Given the description of an element on the screen output the (x, y) to click on. 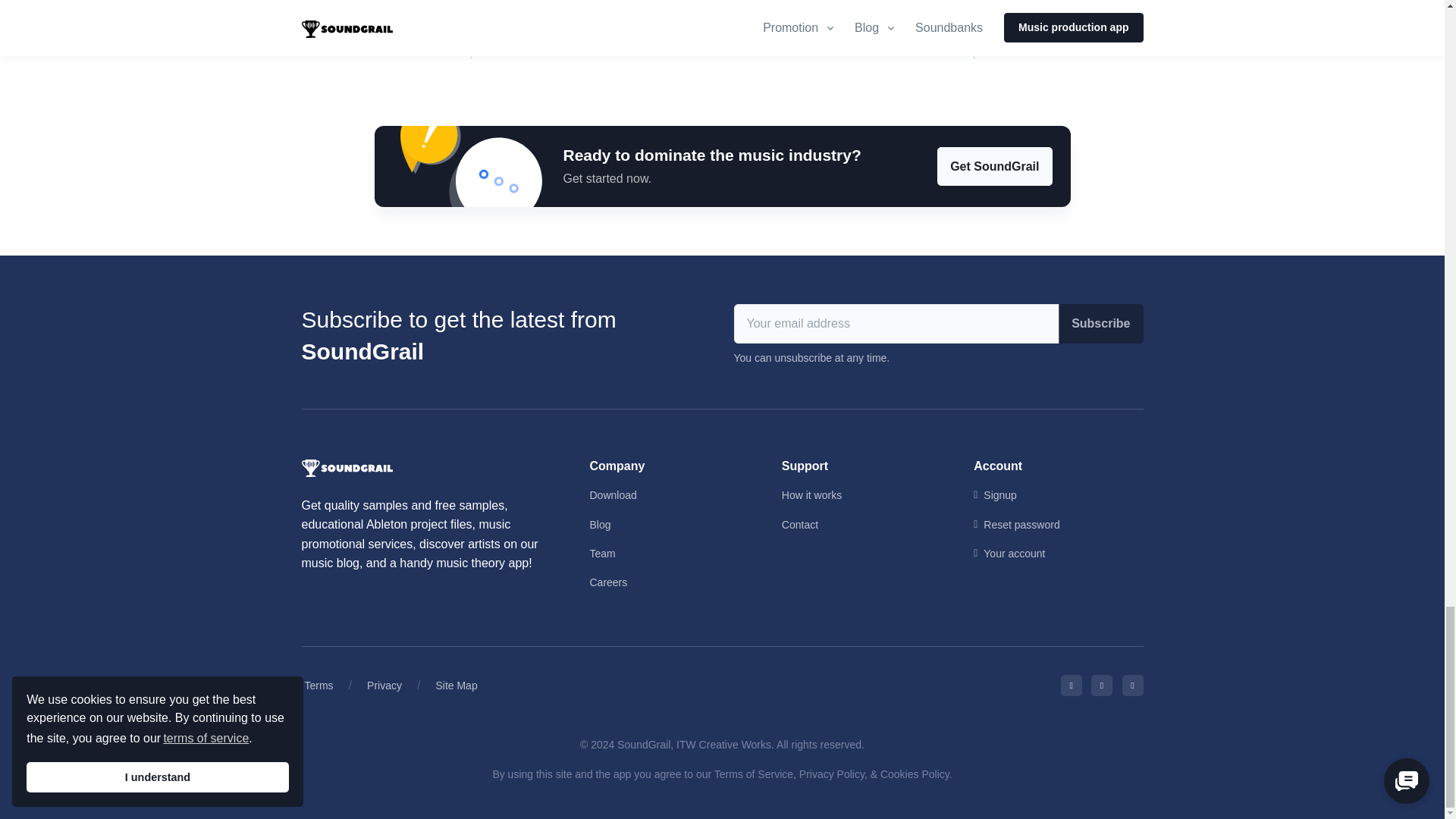
Download (673, 494)
Comments (722, 29)
How it works (865, 494)
Privacy (384, 685)
Your account (1058, 553)
Blog (673, 524)
Site Map (456, 685)
Contact (865, 524)
Signup (1058, 494)
Careers (673, 582)
Team (673, 553)
Subscribe (1100, 323)
Reset password (1058, 524)
Get SoundGrail (994, 166)
Terms (318, 685)
